Given the description of an element on the screen output the (x, y) to click on. 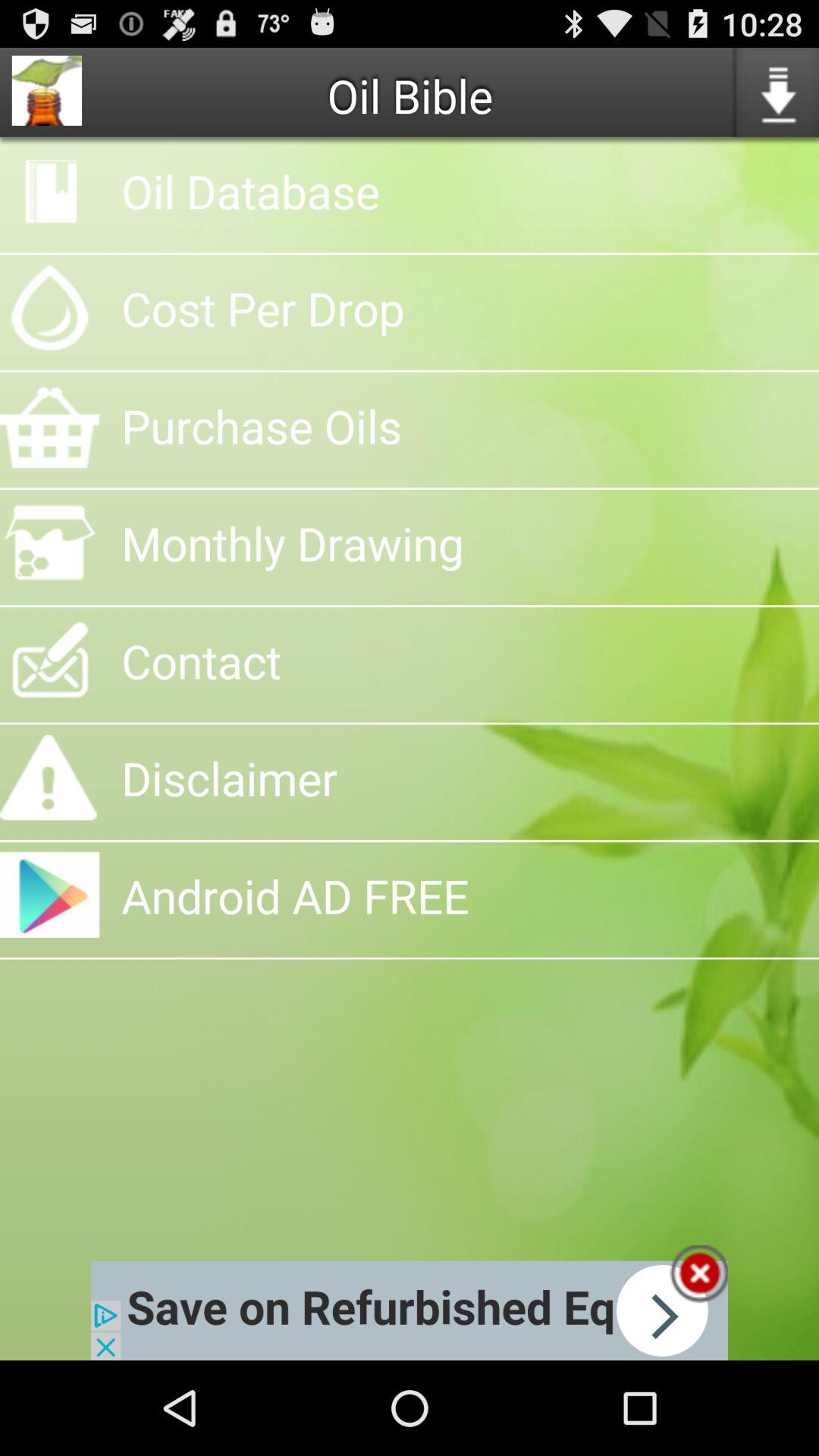
go to close (698, 1273)
